Given the description of an element on the screen output the (x, y) to click on. 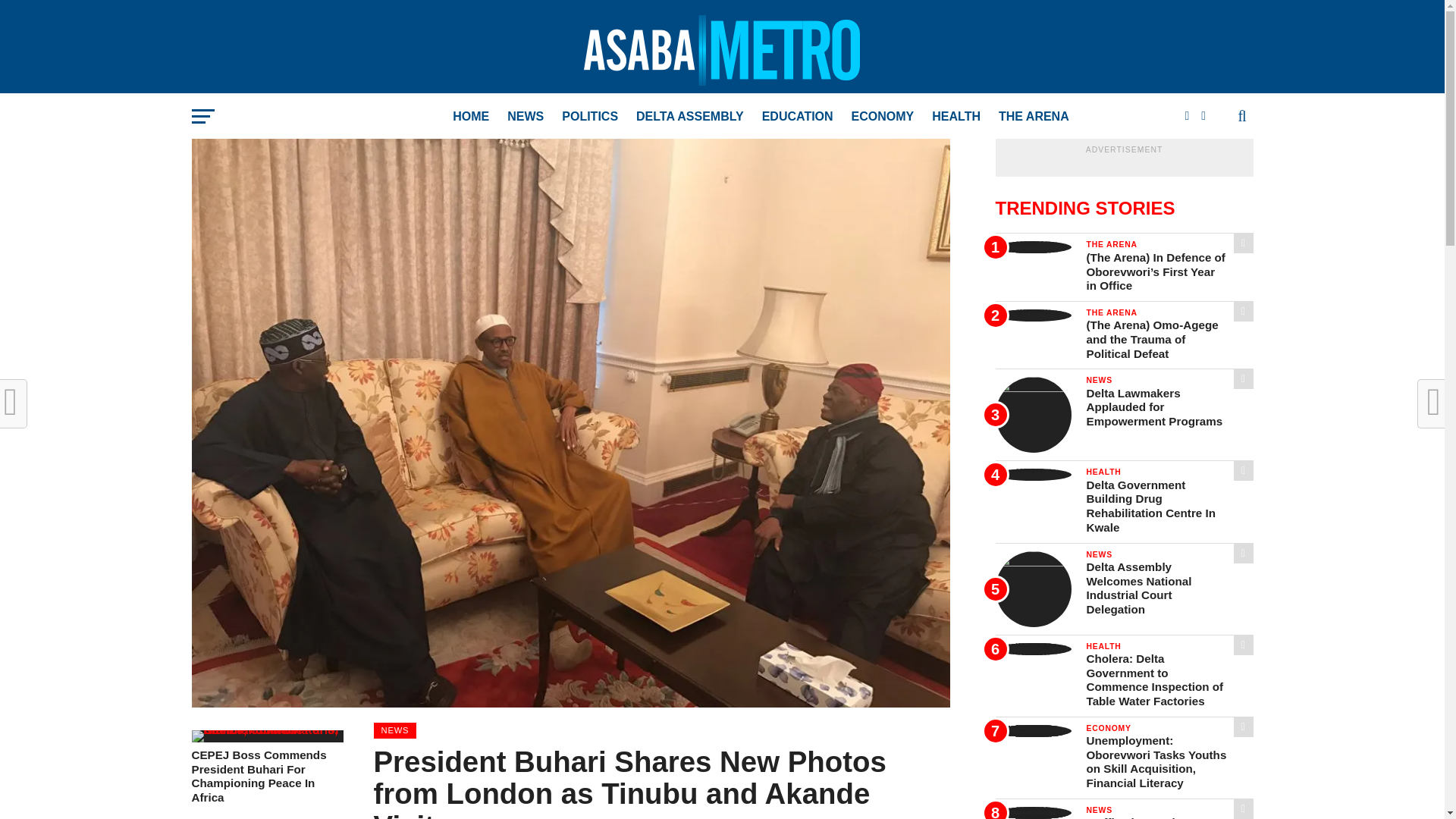
DELTA ASSEMBLY (689, 116)
THE ARENA (1034, 116)
HEALTH (956, 116)
POLITICS (590, 116)
NEWS (525, 116)
HOME (470, 116)
EDUCATION (797, 116)
ECONOMY (883, 116)
